Given the description of an element on the screen output the (x, y) to click on. 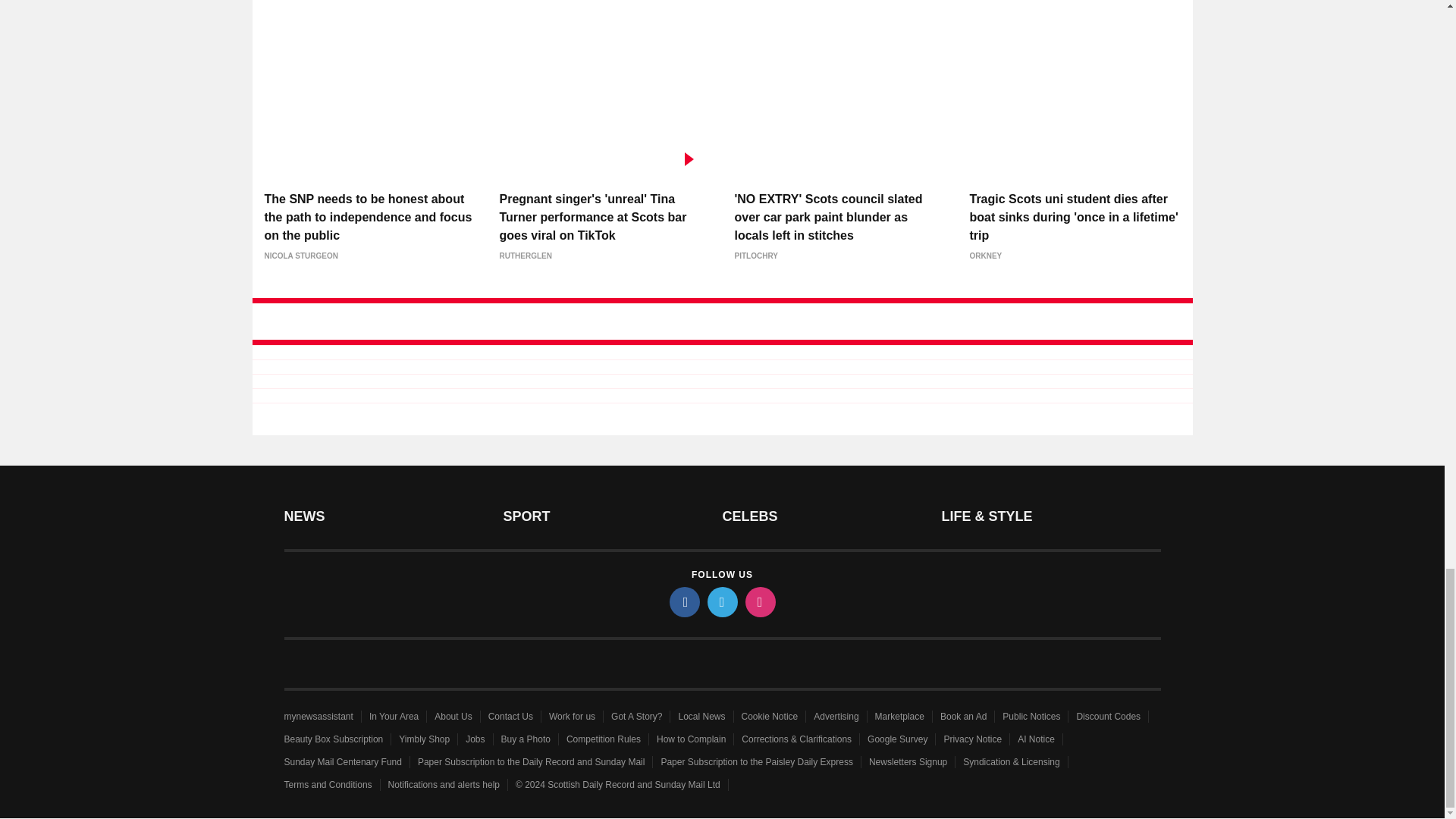
instagram (759, 602)
facebook (683, 602)
twitter (721, 602)
